Given the description of an element on the screen output the (x, y) to click on. 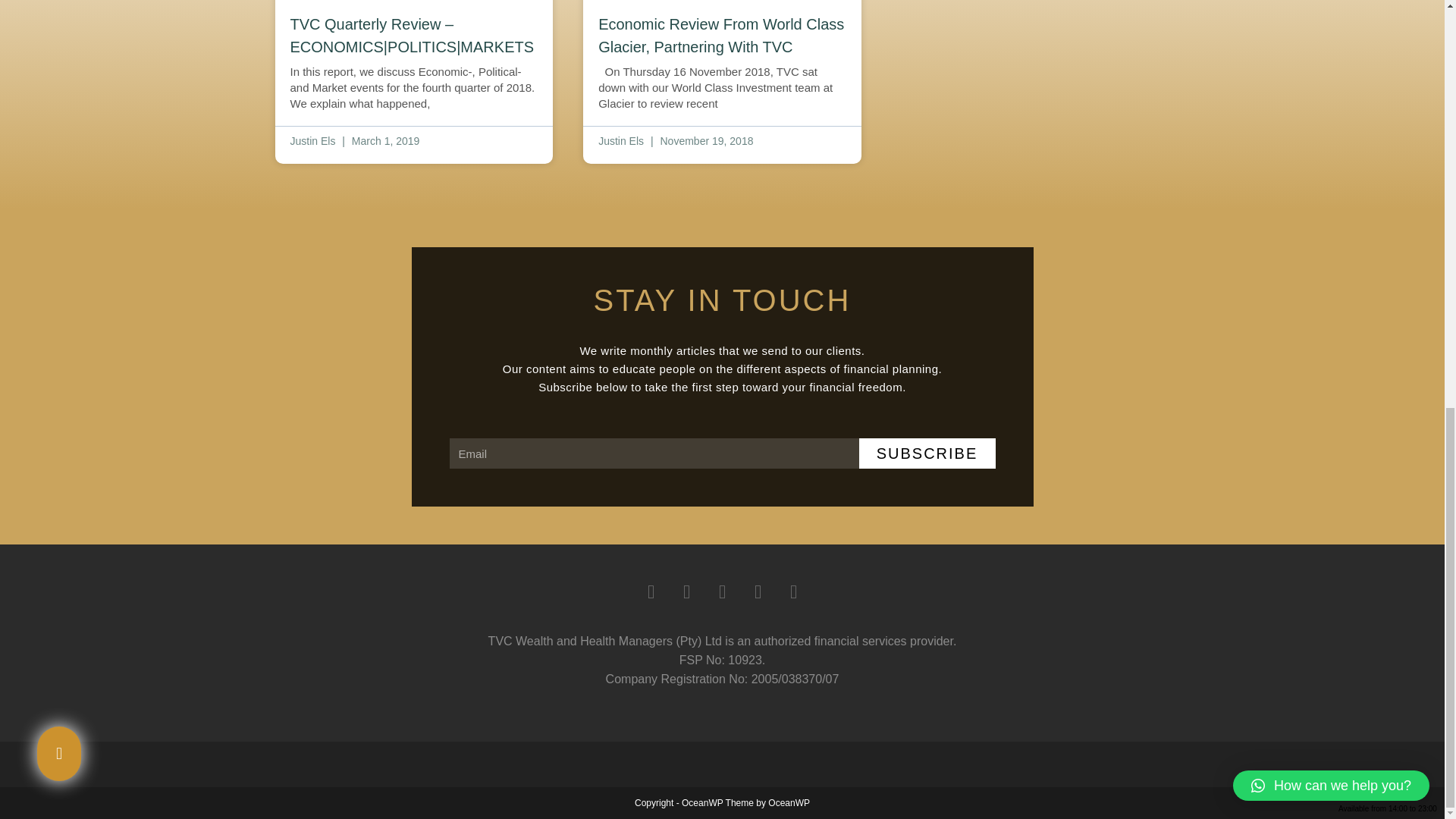
SUBSCRIBE (926, 453)
